Given the description of an element on the screen output the (x, y) to click on. 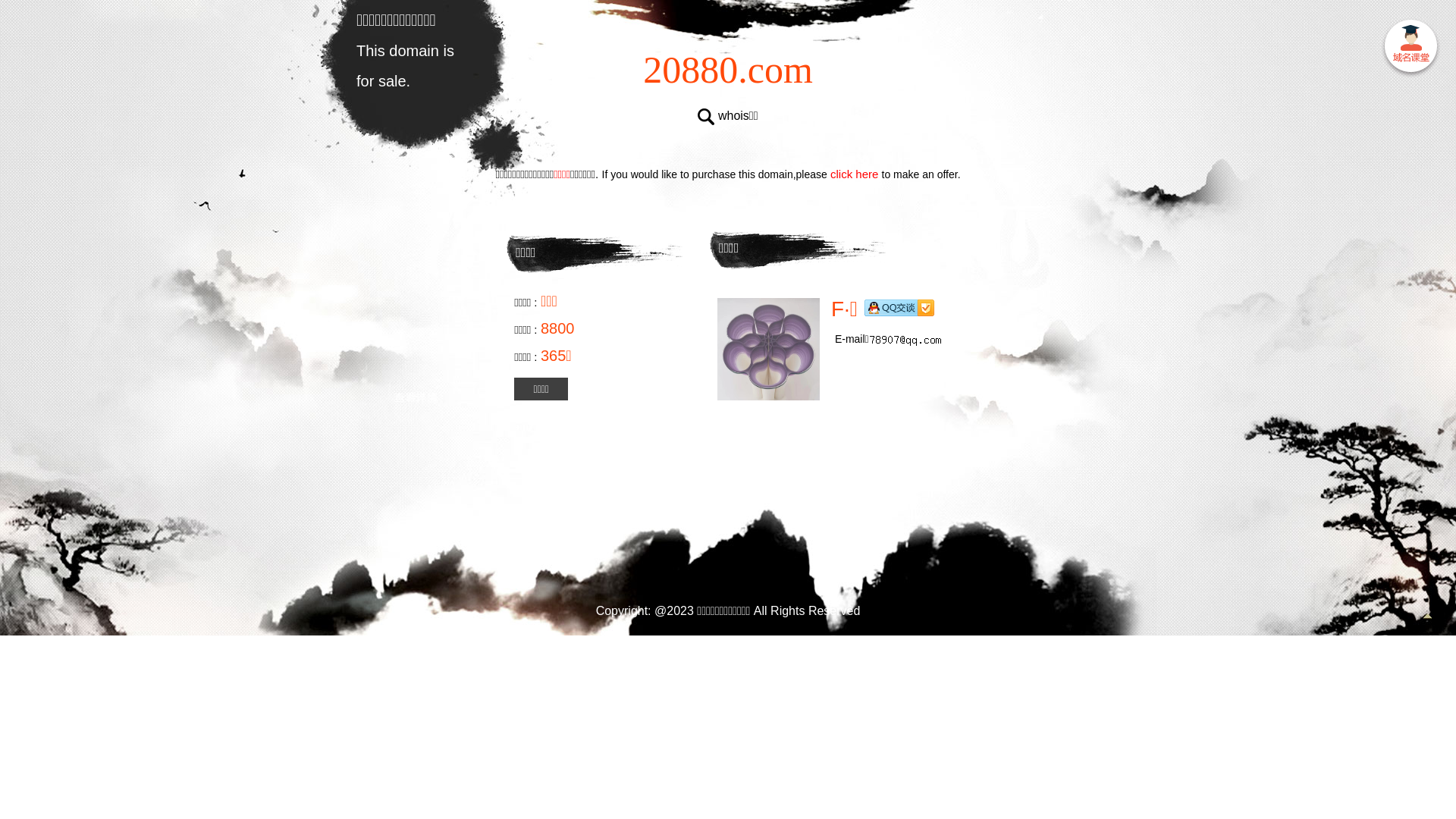
click here Element type: text (854, 173)
  Element type: text (1410, 48)
